Given the description of an element on the screen output the (x, y) to click on. 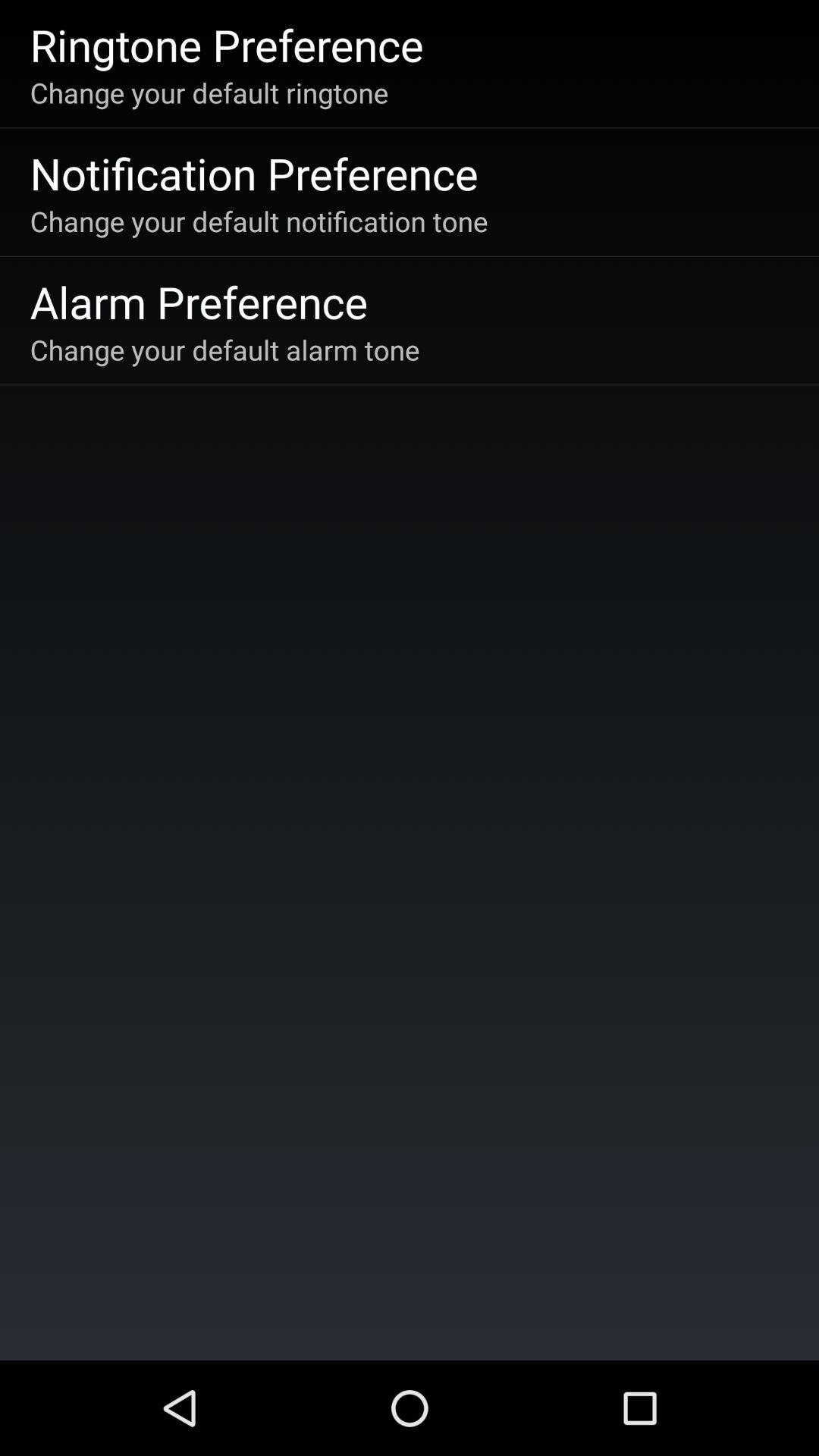
choose the alarm preference (198, 301)
